Given the description of an element on the screen output the (x, y) to click on. 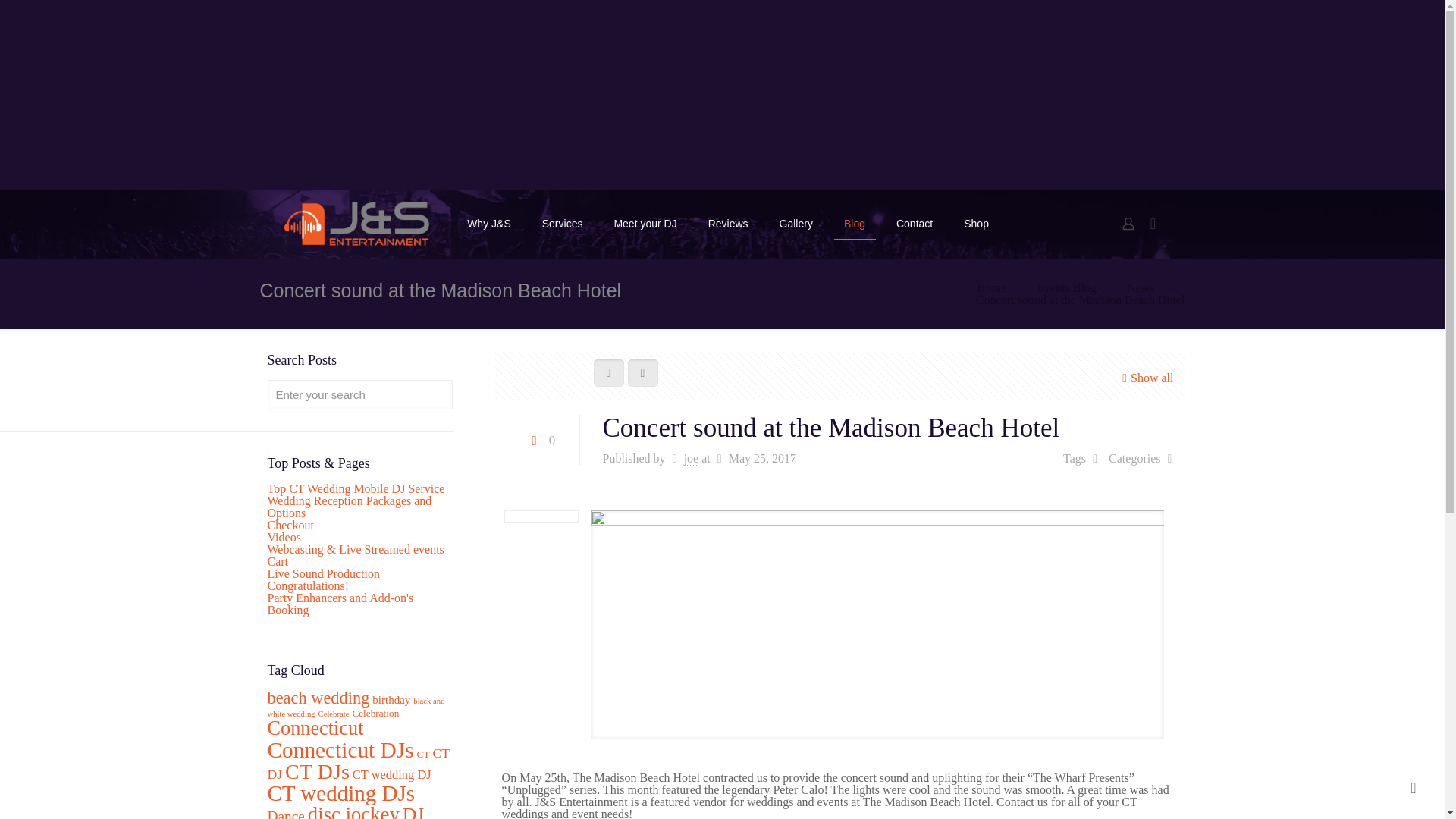
Reviews (728, 223)
News (1140, 287)
Meet your DJ (645, 223)
Concert sound at the Madison Beach Hotel (1080, 299)
Home (991, 287)
Services (562, 223)
Gallery (796, 223)
Meet your DJ (645, 223)
Events Blog (1066, 287)
Contact (914, 223)
